Given the description of an element on the screen output the (x, y) to click on. 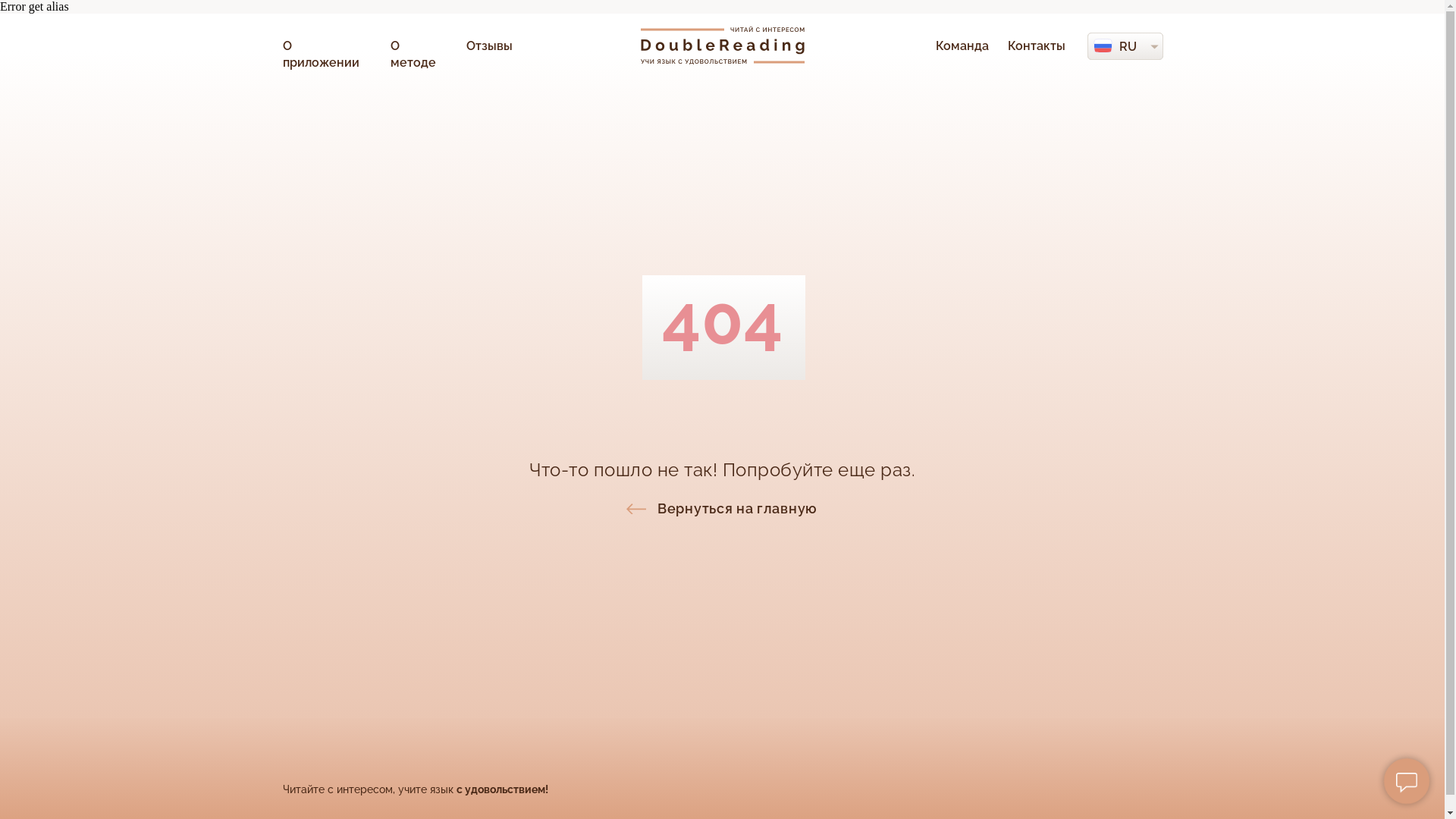
RU Element type: text (1127, 46)
